Given the description of an element on the screen output the (x, y) to click on. 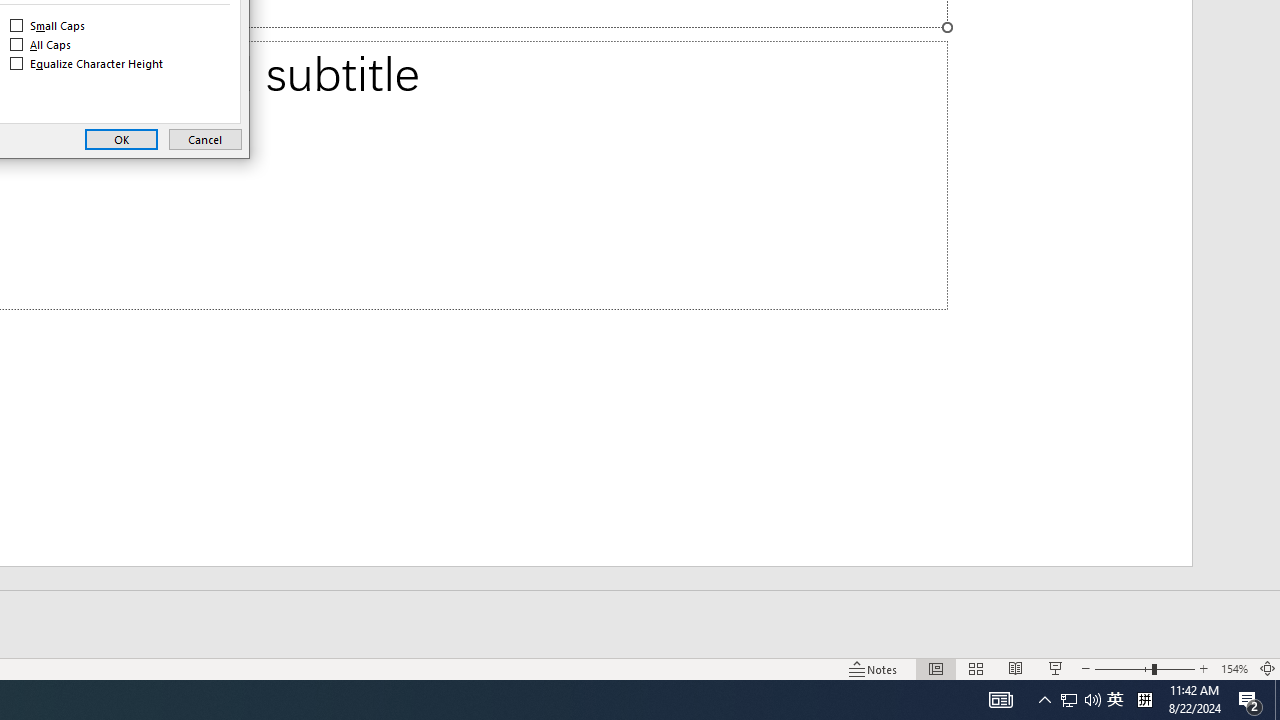
All Caps (41, 44)
Action Center, 2 new notifications (1115, 699)
Zoom 154% (1250, 699)
Small Caps (1234, 668)
Notification Chevron (48, 25)
Equalize Character Height (1044, 699)
Q2790: 100% (87, 64)
AutomationID: 4105 (1092, 699)
